Given the description of an element on the screen output the (x, y) to click on. 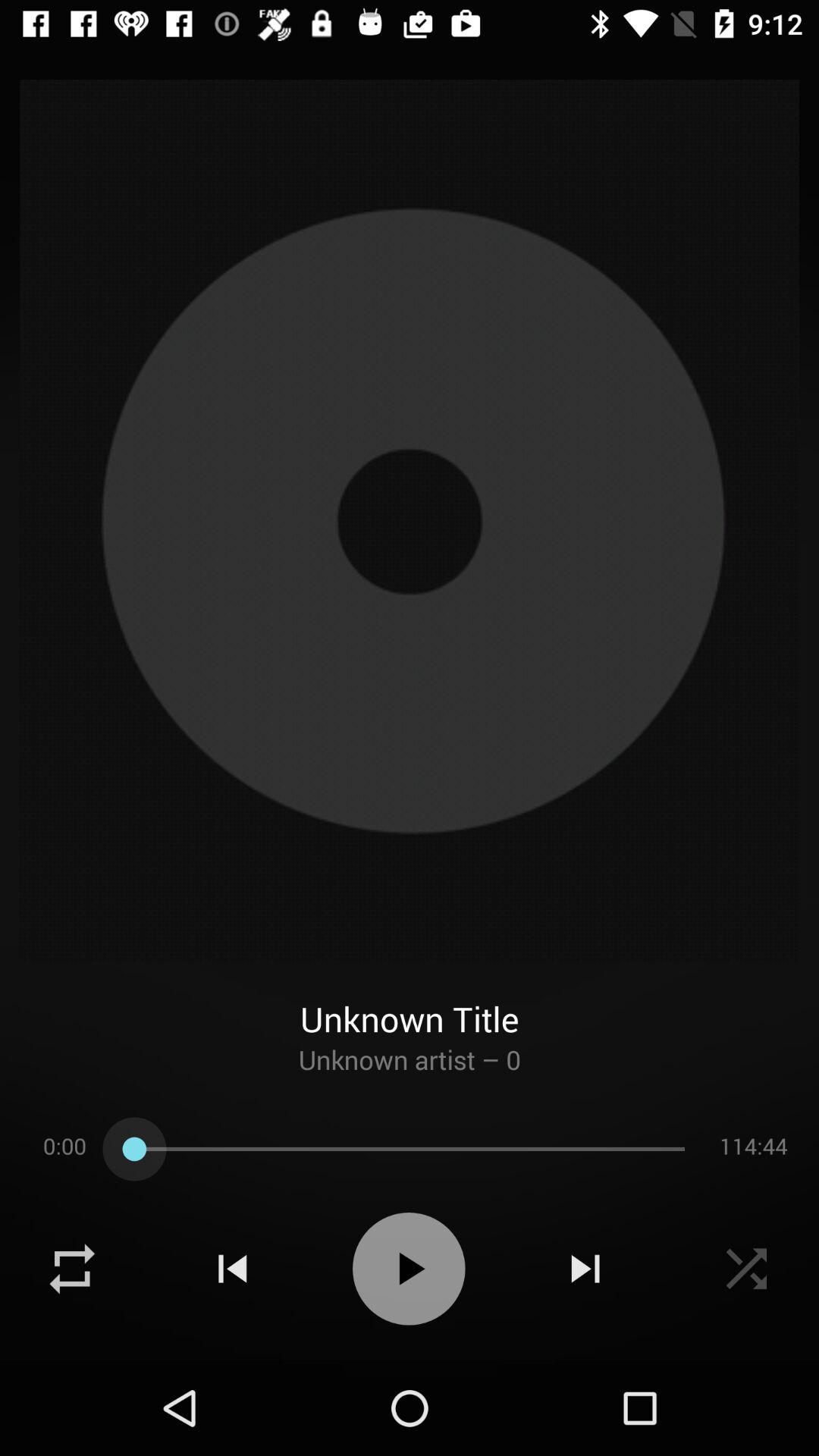
swipe to the unknown title item (409, 1001)
